Given the description of an element on the screen output the (x, y) to click on. 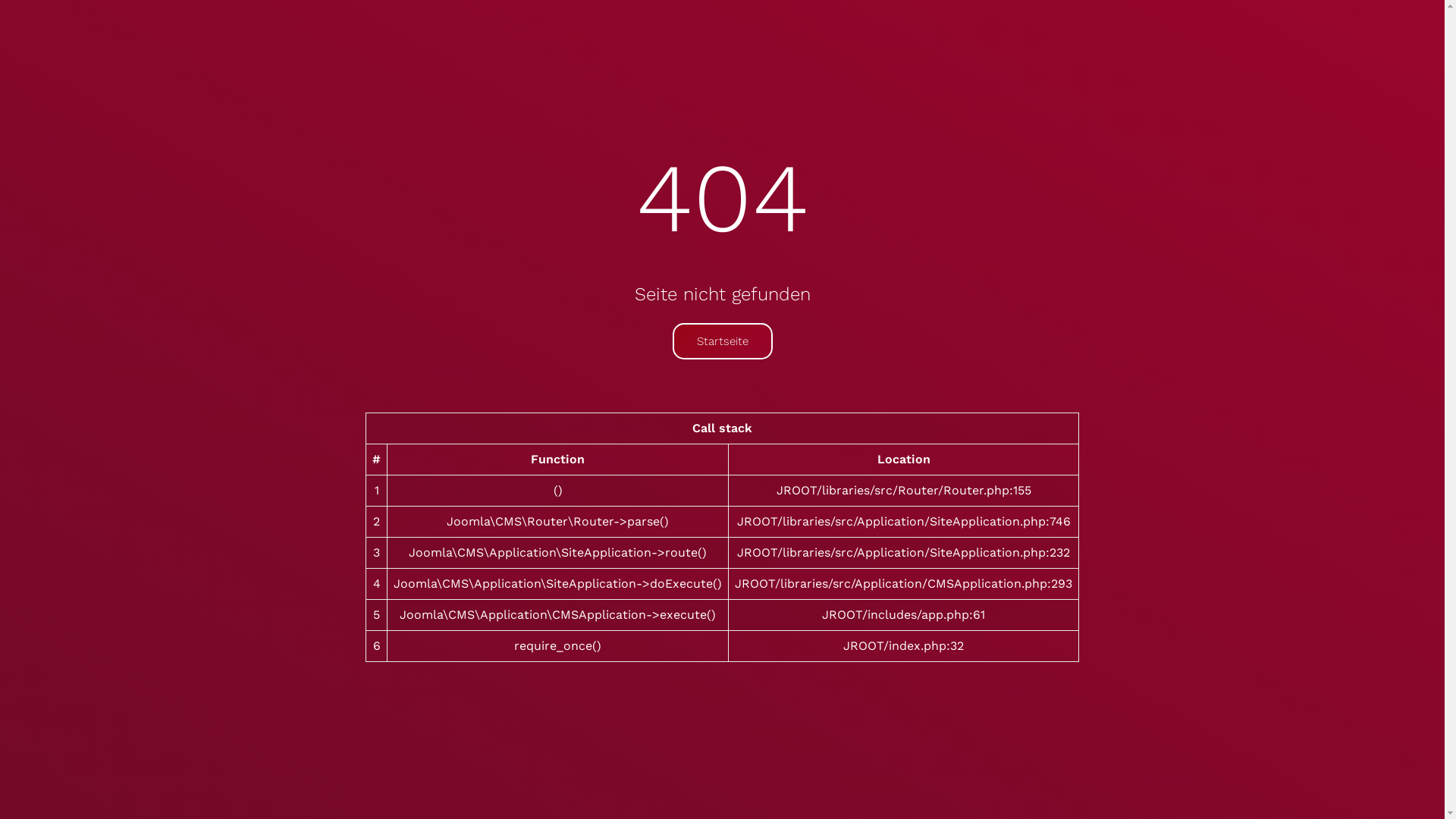
Startseite Element type: text (721, 341)
